Given the description of an element on the screen output the (x, y) to click on. 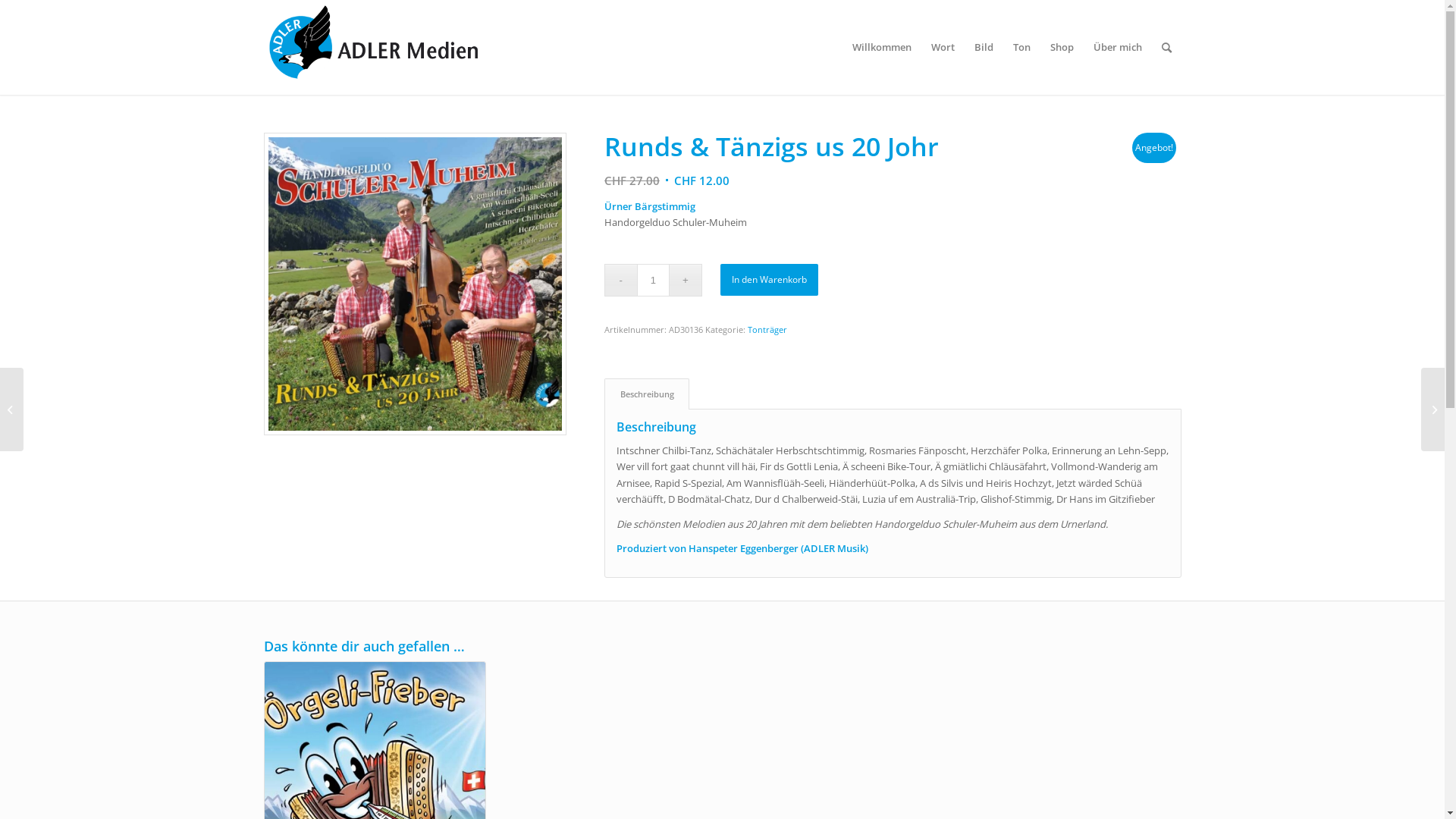
Beschreibung Element type: text (646, 393)
Willkommen Element type: text (880, 47)
Bild Element type: text (983, 47)
Ton Element type: text (1020, 47)
Menge Element type: hover (653, 279)
Wort Element type: text (941, 47)
In den Warenkorb Element type: text (769, 279)
Shop Element type: text (1061, 47)
